Given the description of an element on the screen output the (x, y) to click on. 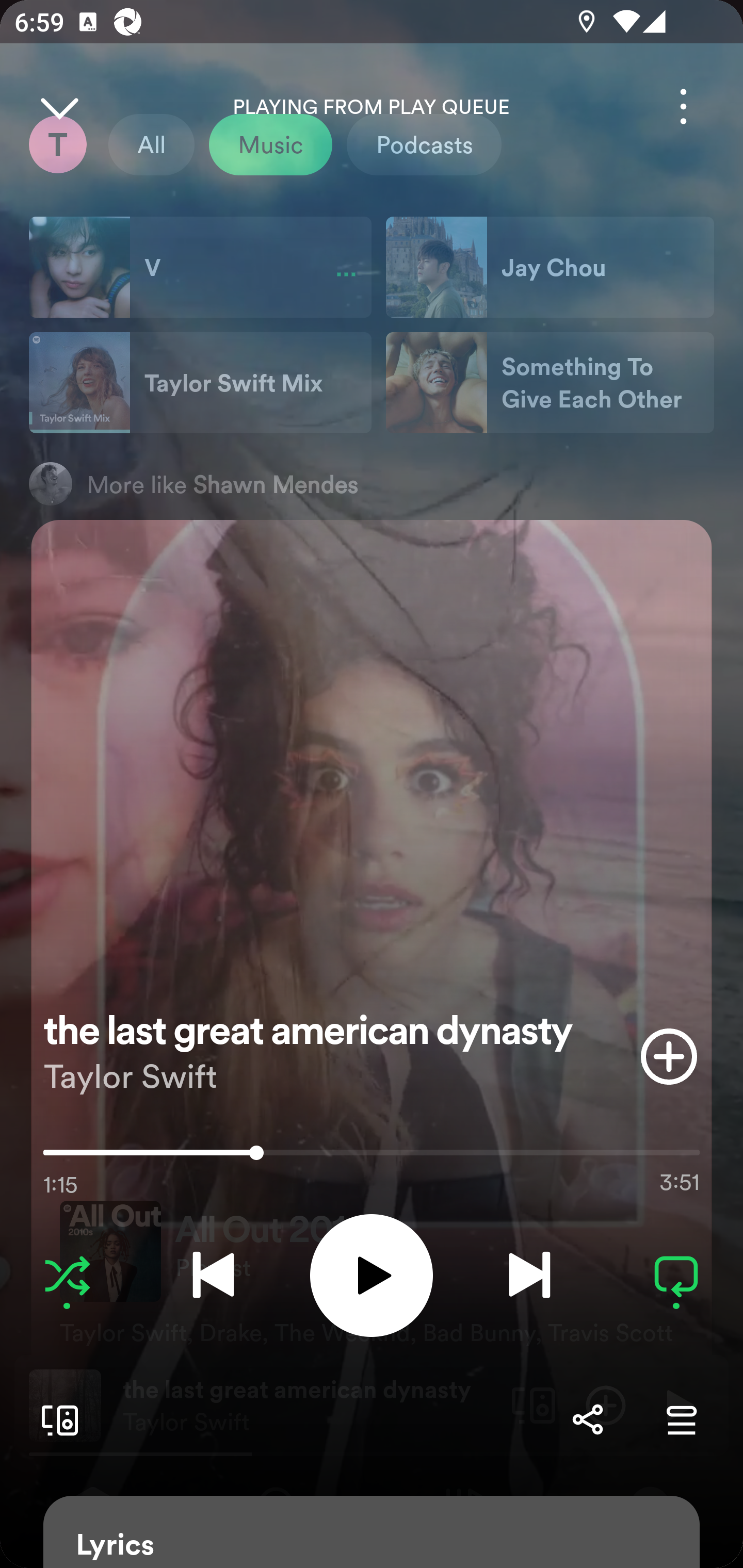
Close (59, 106)
PLAYING FROM PLAY QUEUE (371, 107)
Add item (669, 1056)
1:15 3:51 75041.0 Use volume keys to adjust (371, 1157)
Play (371, 1275)
Previous (212, 1275)
Next (529, 1275)
Stop shuffling tracks (66, 1275)
Repeat (676, 1275)
Share (587, 1419)
Go to Queue (681, 1419)
Connect to a device. Opens the devices menu (55, 1419)
Lyrics (371, 1531)
